Given the description of an element on the screen output the (x, y) to click on. 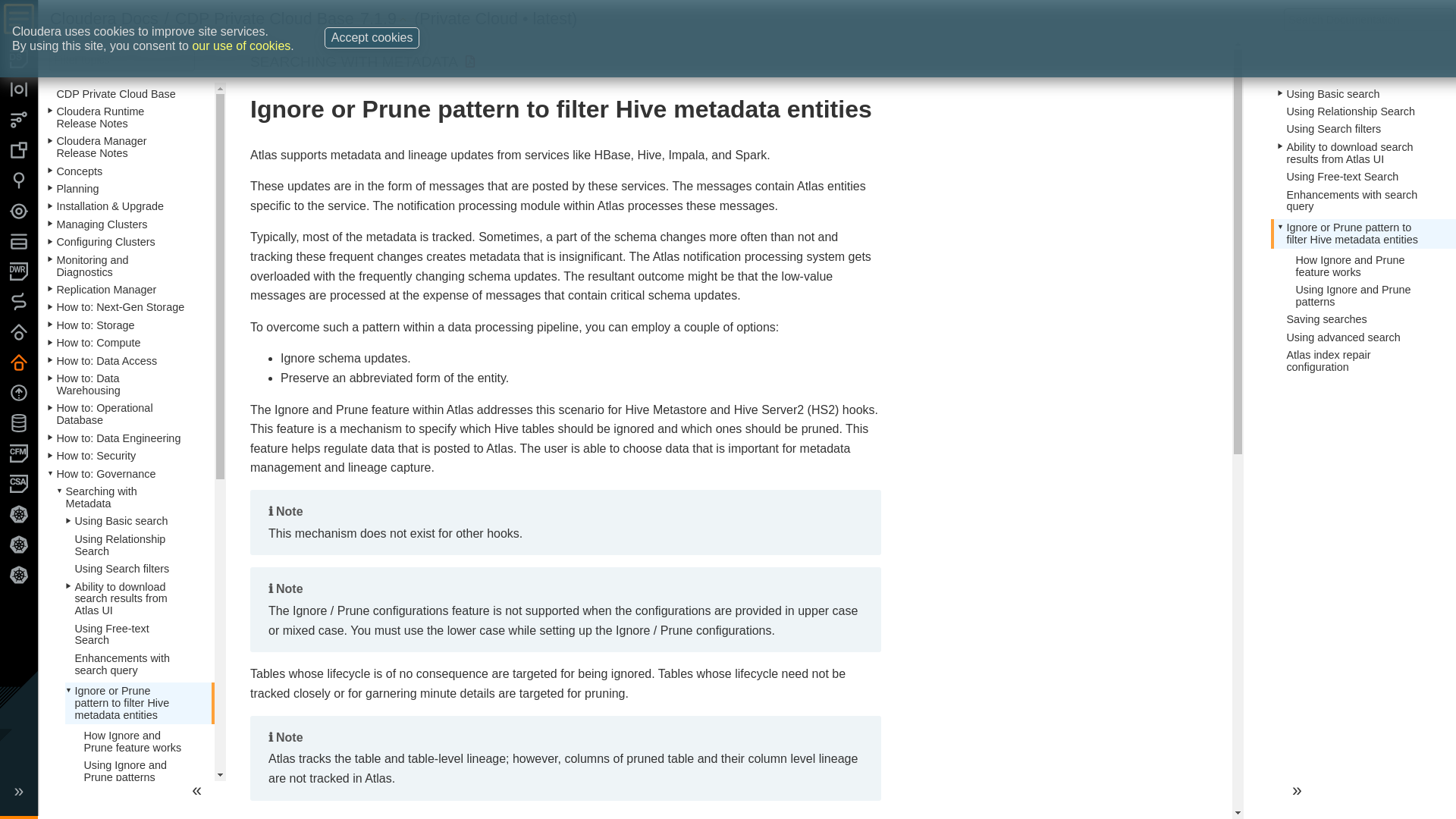
Cloudera Docs (103, 18)
CDP Private Cloud Base (263, 18)
